Given the description of an element on the screen output the (x, y) to click on. 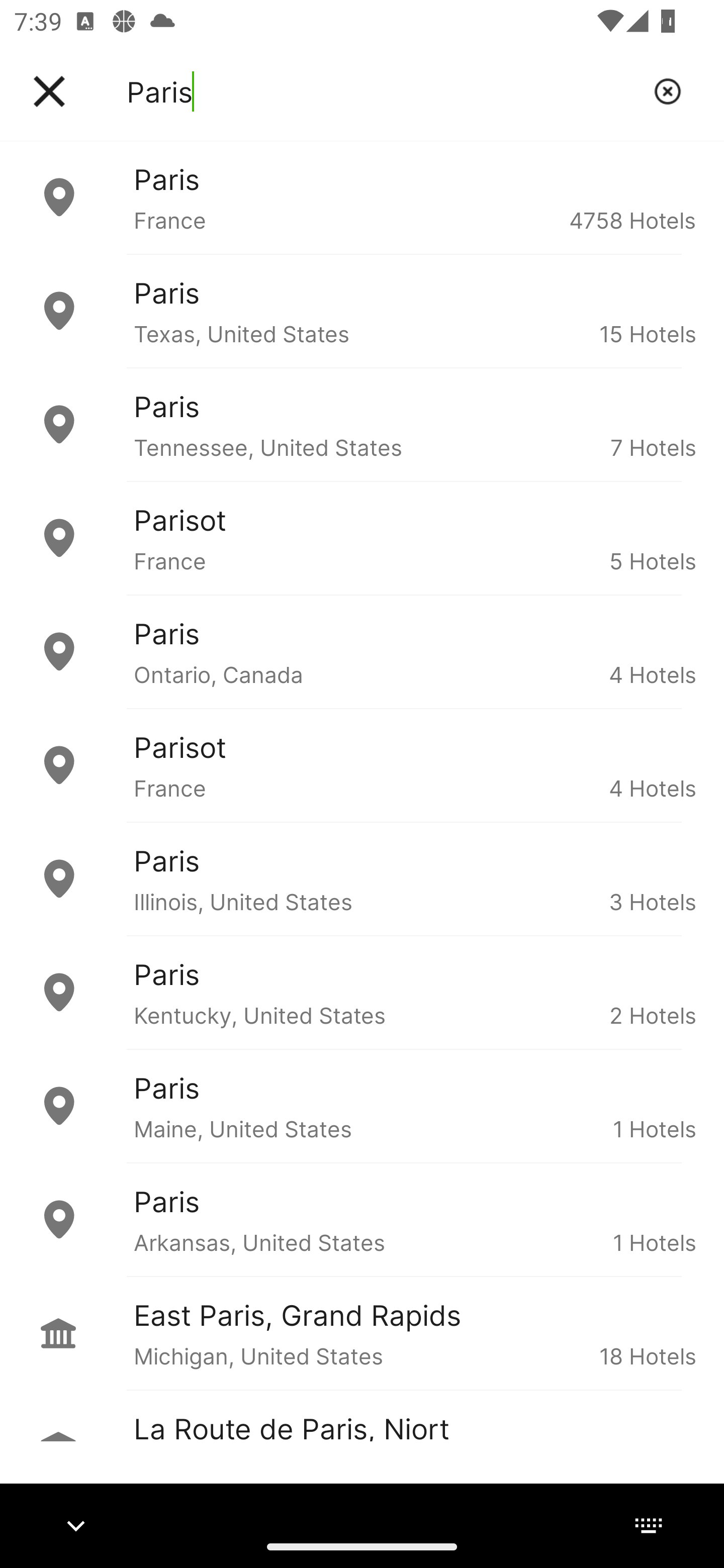
Paris (382, 91)
Paris France 4758 Hotels (362, 197)
Paris Texas, United States 15 Hotels (362, 310)
Paris Tennessee, United States 7 Hotels (362, 424)
Parisot France 5 Hotels (362, 537)
Paris Ontario, Canada 4 Hotels (362, 651)
Parisot France 4 Hotels (362, 764)
Paris Illinois, United States 3 Hotels (362, 878)
Paris Kentucky, United States 2 Hotels (362, 992)
Paris Maine, United States 1 Hotels (362, 1105)
Paris Arkansas, United States 1 Hotels (362, 1219)
